Given the description of an element on the screen output the (x, y) to click on. 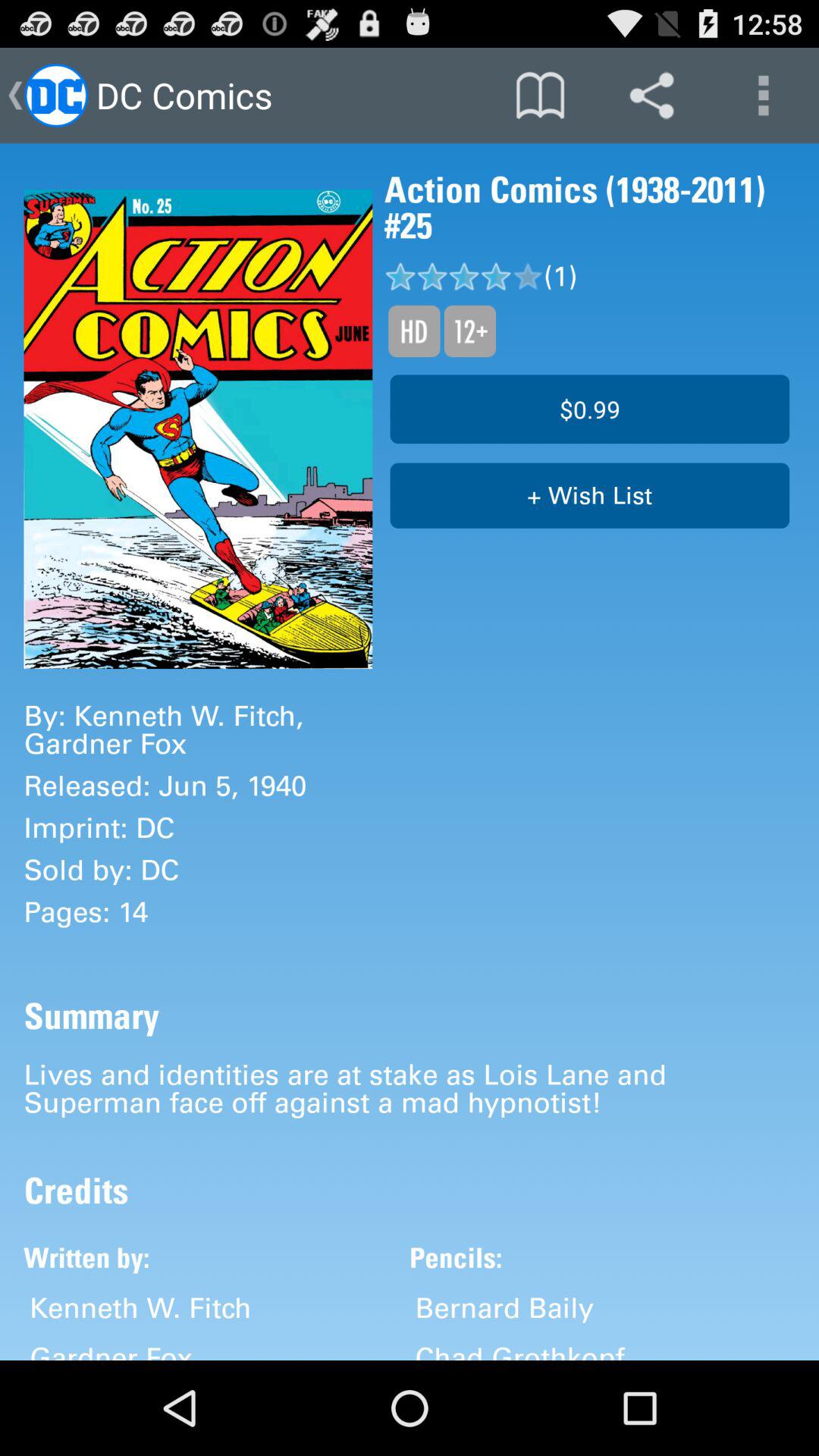
launch icon next to the action comics 1938 (197, 429)
